Given the description of an element on the screen output the (x, y) to click on. 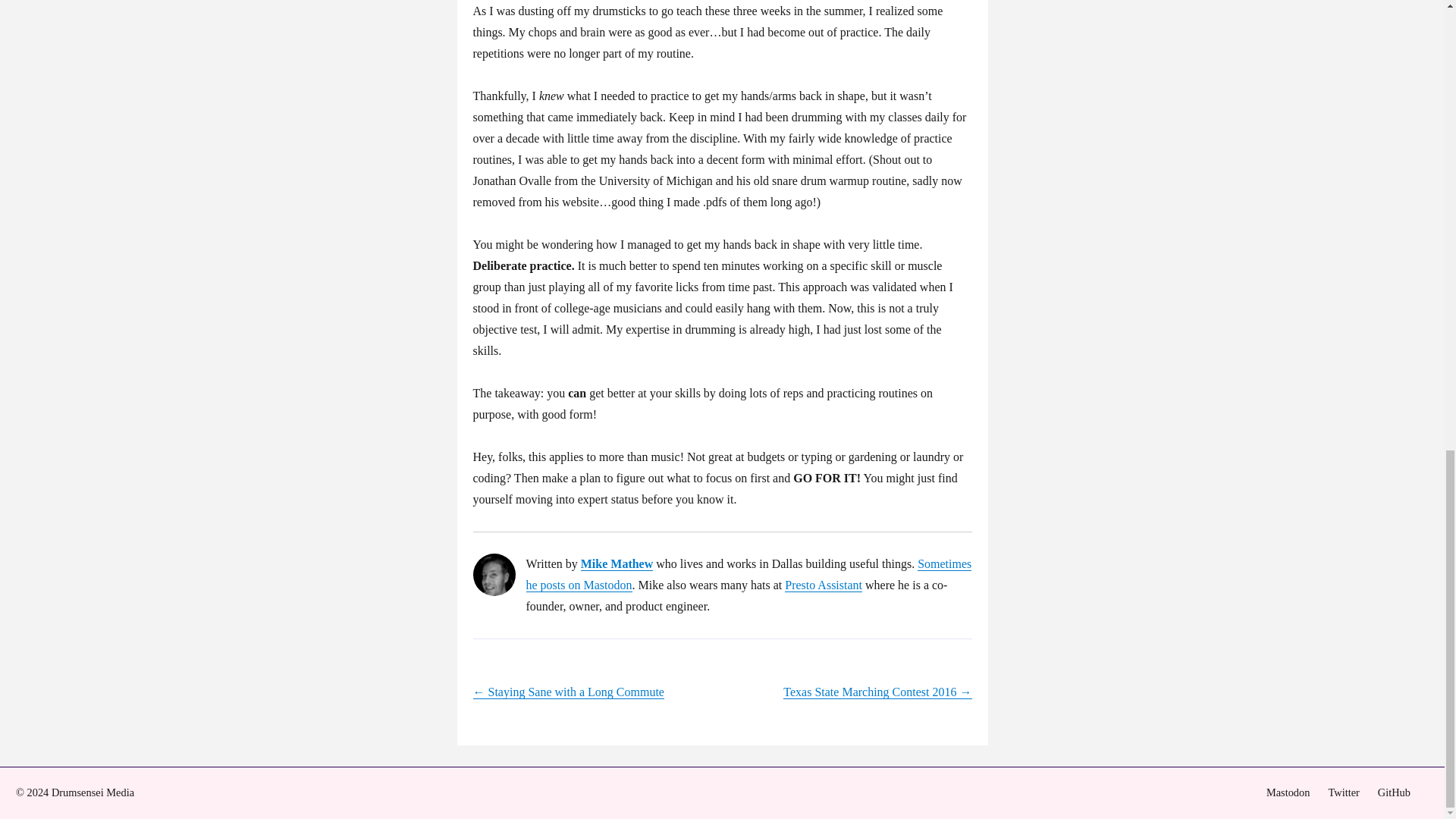
Mastodon (1288, 792)
Sometimes he posts on Mastodon (748, 574)
Mike Mathew (616, 563)
Presto Assistant (822, 584)
GitHub (1393, 792)
Twitter (1342, 792)
